Given the description of an element on the screen output the (x, y) to click on. 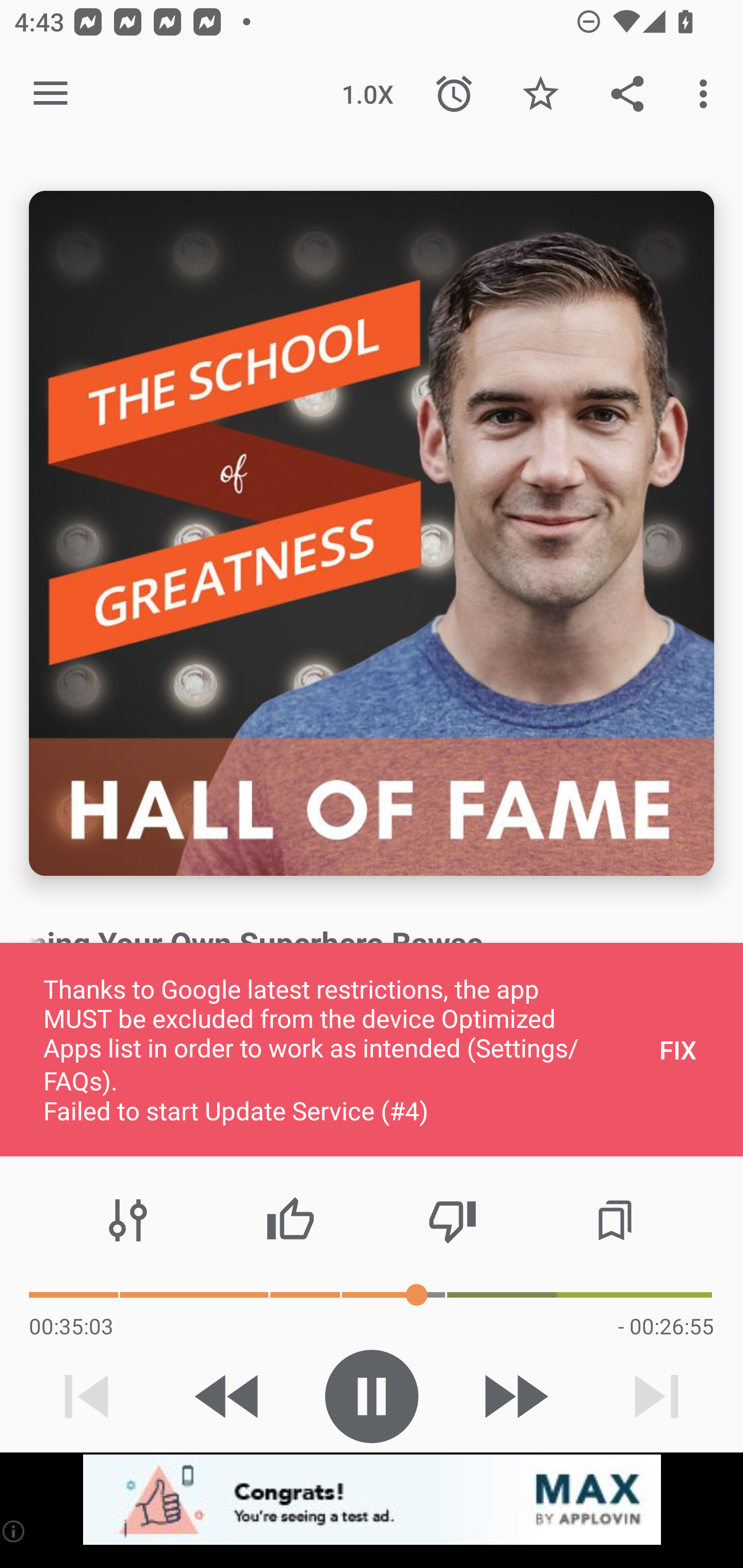
Open navigation sidebar (50, 93)
1.0X (366, 93)
Sleep Timer (453, 93)
Favorite (540, 93)
Share (626, 93)
More options (706, 93)
Episode description (371, 533)
FIX (677, 1049)
Audio effects (127, 1220)
Thumbs up (290, 1220)
Thumbs down (452, 1220)
Chapters / Bookmarks (614, 1220)
- 00:26:55 (666, 1325)
Previous track (86, 1395)
Skip 15s backward (228, 1395)
Play / Pause (371, 1395)
Skip 30s forward (513, 1395)
Next track (656, 1395)
app-monetization (371, 1500)
(i) (14, 1531)
